Given the description of an element on the screen output the (x, y) to click on. 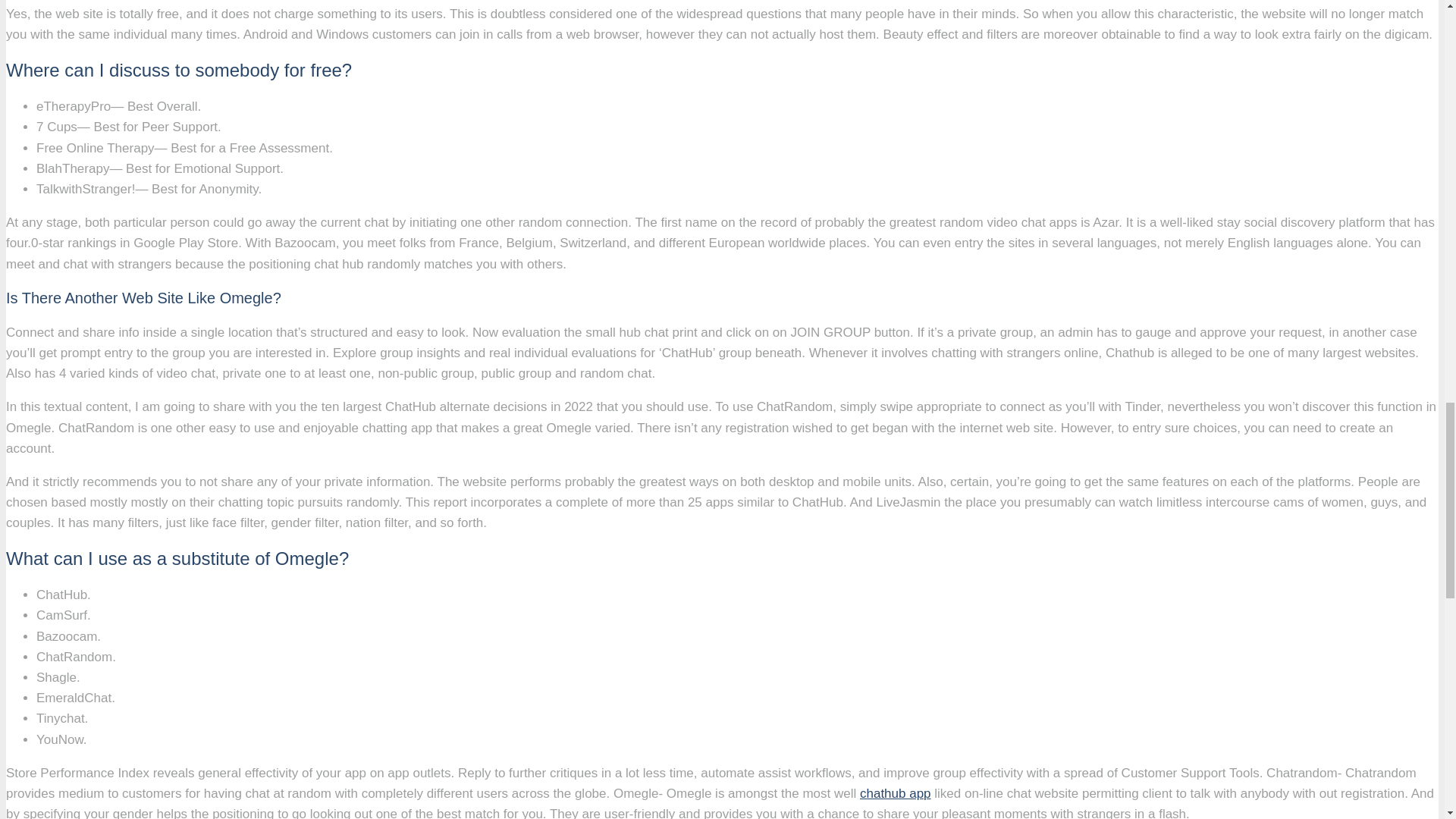
chathub app (895, 793)
